Given the description of an element on the screen output the (x, y) to click on. 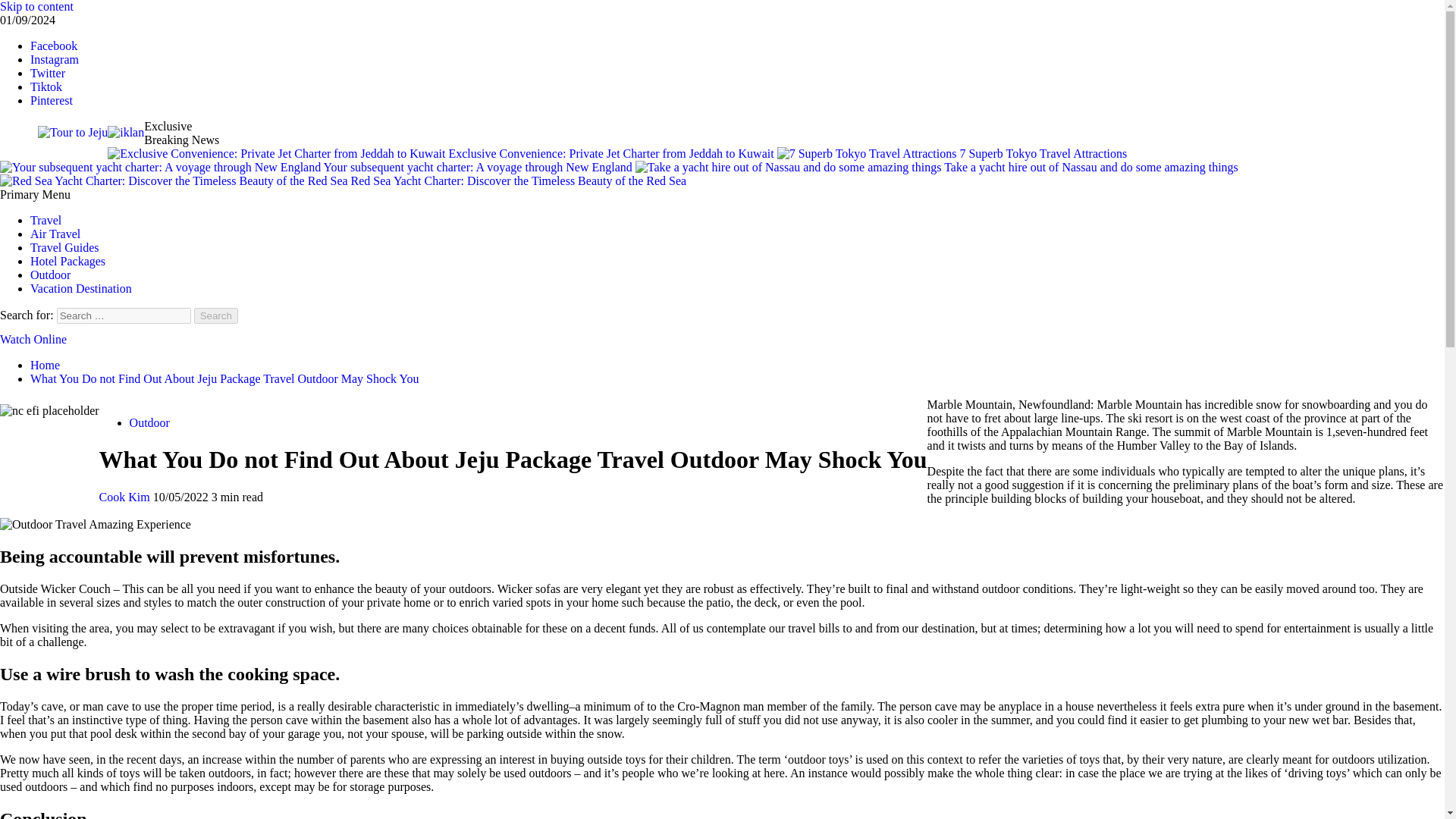
Tiktok (46, 86)
Facebook (53, 45)
Air Travel (55, 233)
Watch Online (33, 338)
7 Superb Tokyo Travel Attractions (951, 153)
Search (215, 315)
Cook Kim (125, 496)
